Given the description of an element on the screen output the (x, y) to click on. 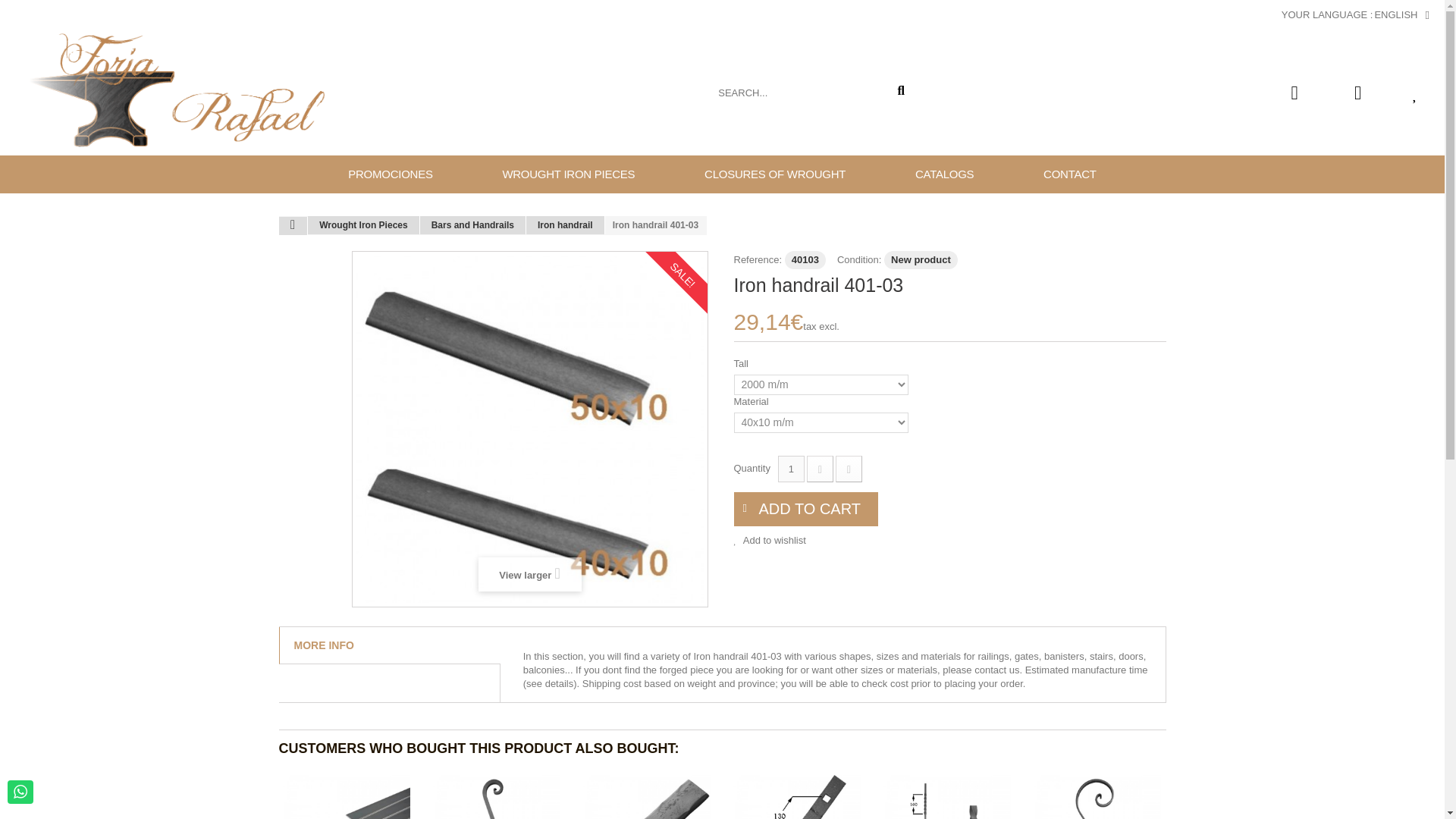
My account (1358, 92)
Forja Rafael C.B. (180, 90)
PROMOCIONES (389, 174)
1 (791, 468)
View my shopping cart (1299, 95)
WROUGHT IRON PIECES (568, 174)
0 (1299, 95)
